Given the description of an element on the screen output the (x, y) to click on. 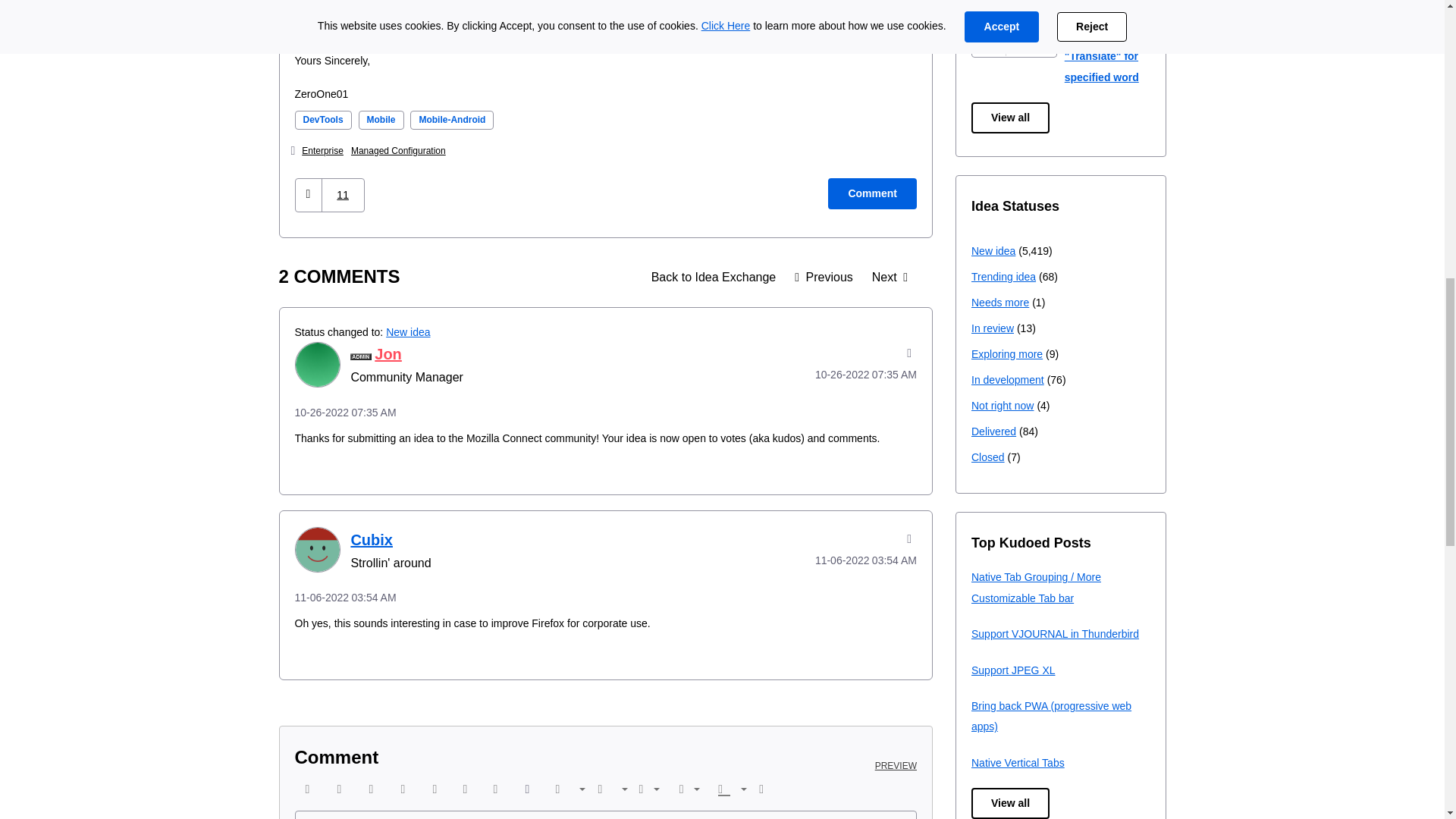
DevTools (322, 119)
Enterprise (322, 150)
Mobile (381, 119)
Ideas (714, 276)
Mobile-Android (451, 119)
Community Manager (360, 356)
Posted on (845, 374)
Jon (316, 364)
Click here to see who gave kudos to this post. (342, 195)
